Given the description of an element on the screen output the (x, y) to click on. 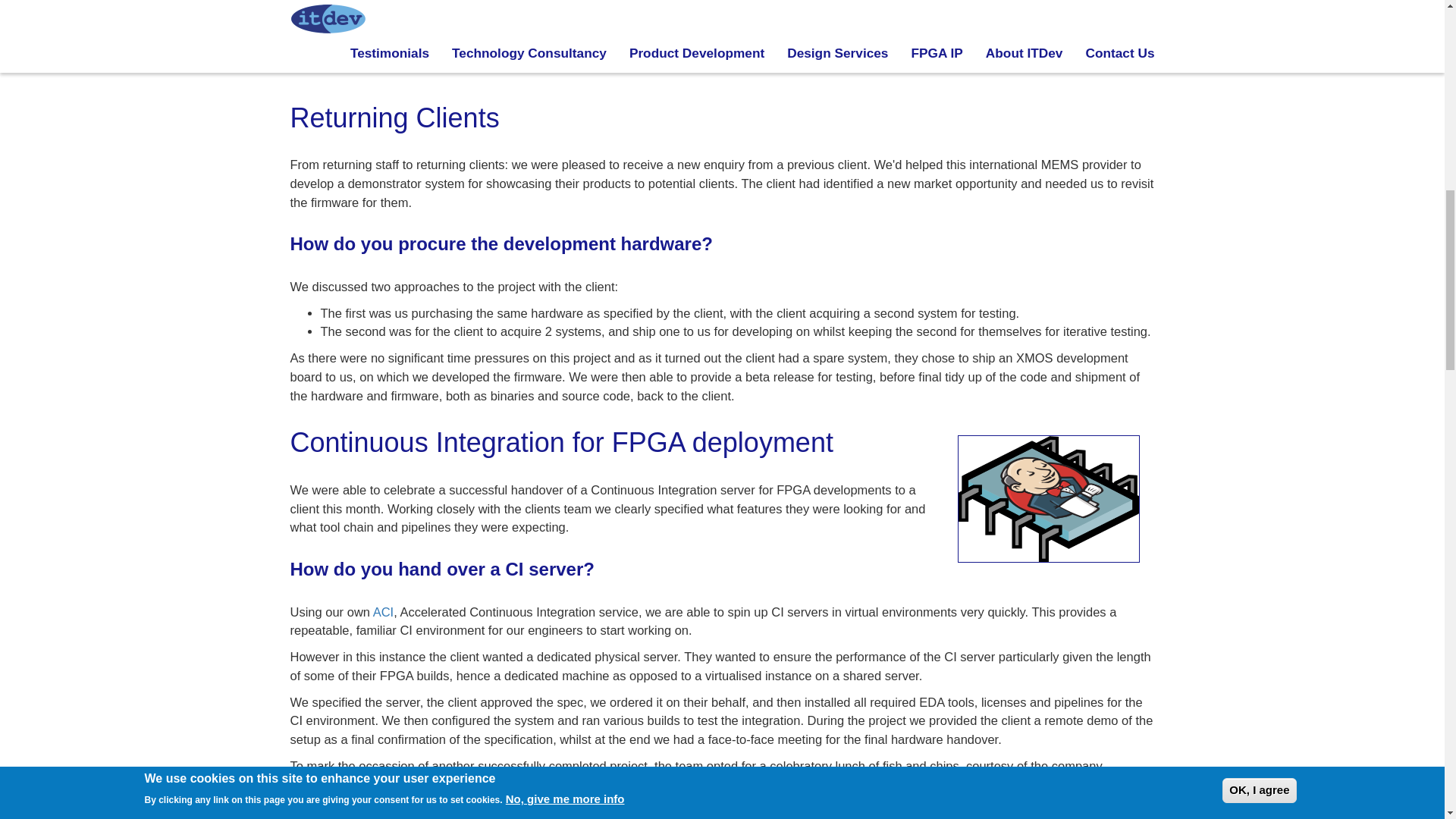
ACI (383, 612)
